Given the description of an element on the screen output the (x, y) to click on. 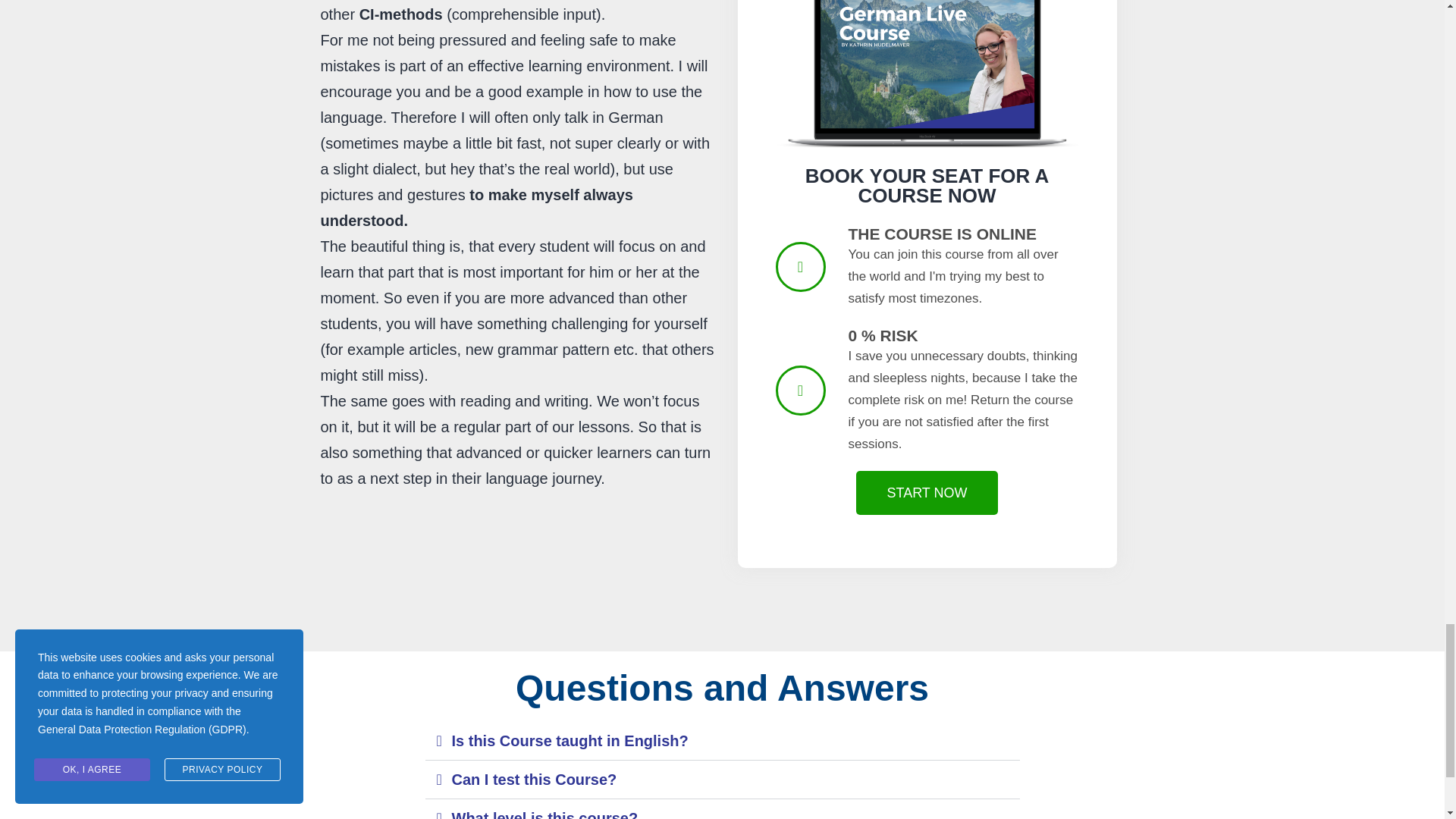
START NOW (926, 492)
Is this Course taught in English? (569, 740)
What level is this course? (545, 814)
Can I test this Course? (534, 779)
